Given the description of an element on the screen output the (x, y) to click on. 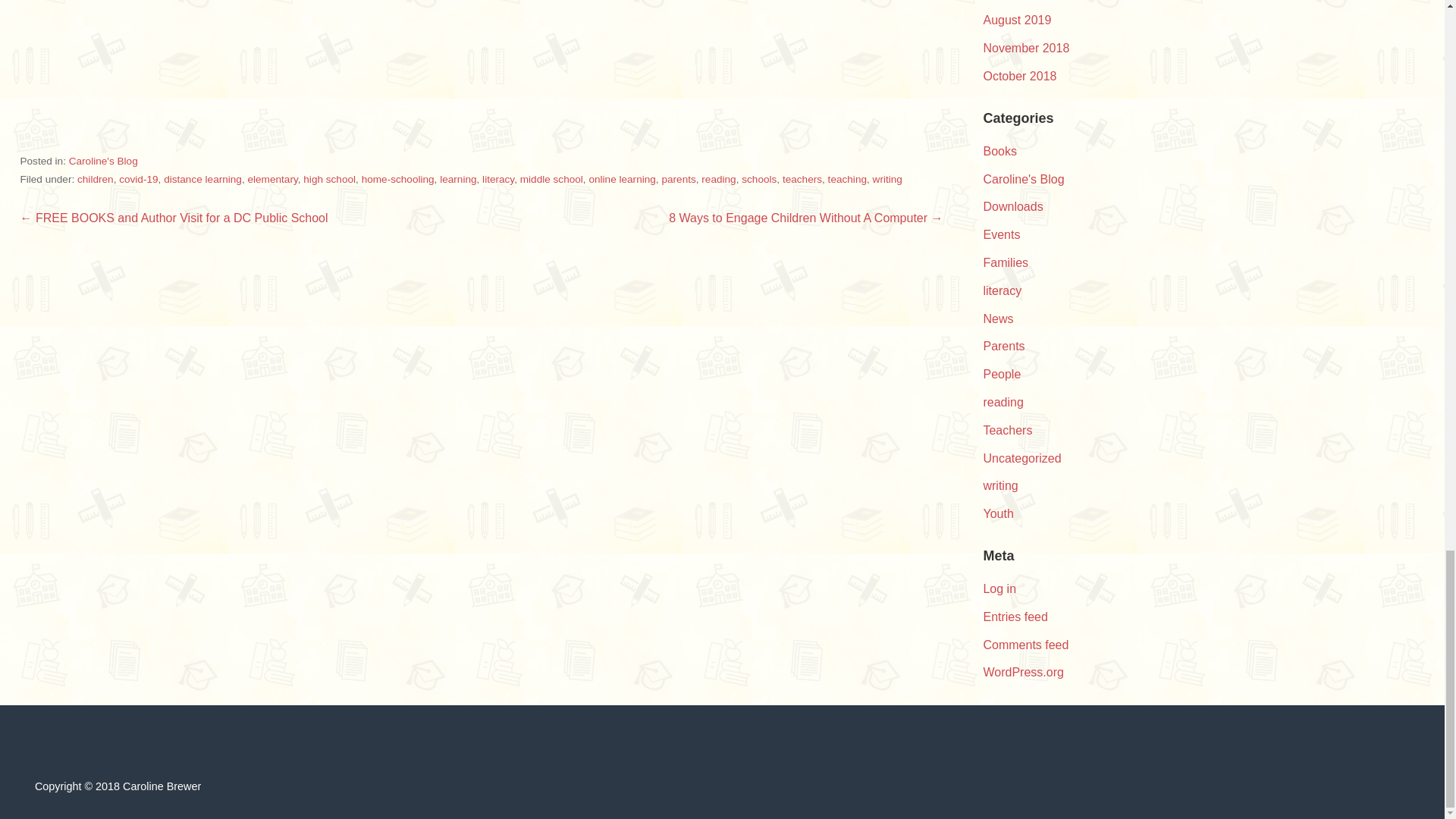
teaching (847, 179)
writing (887, 179)
distance learning (202, 179)
learning (457, 179)
schools (758, 179)
children (95, 179)
online learning (621, 179)
parents (678, 179)
middle school (551, 179)
covid-19 (138, 179)
